Given the description of an element on the screen output the (x, y) to click on. 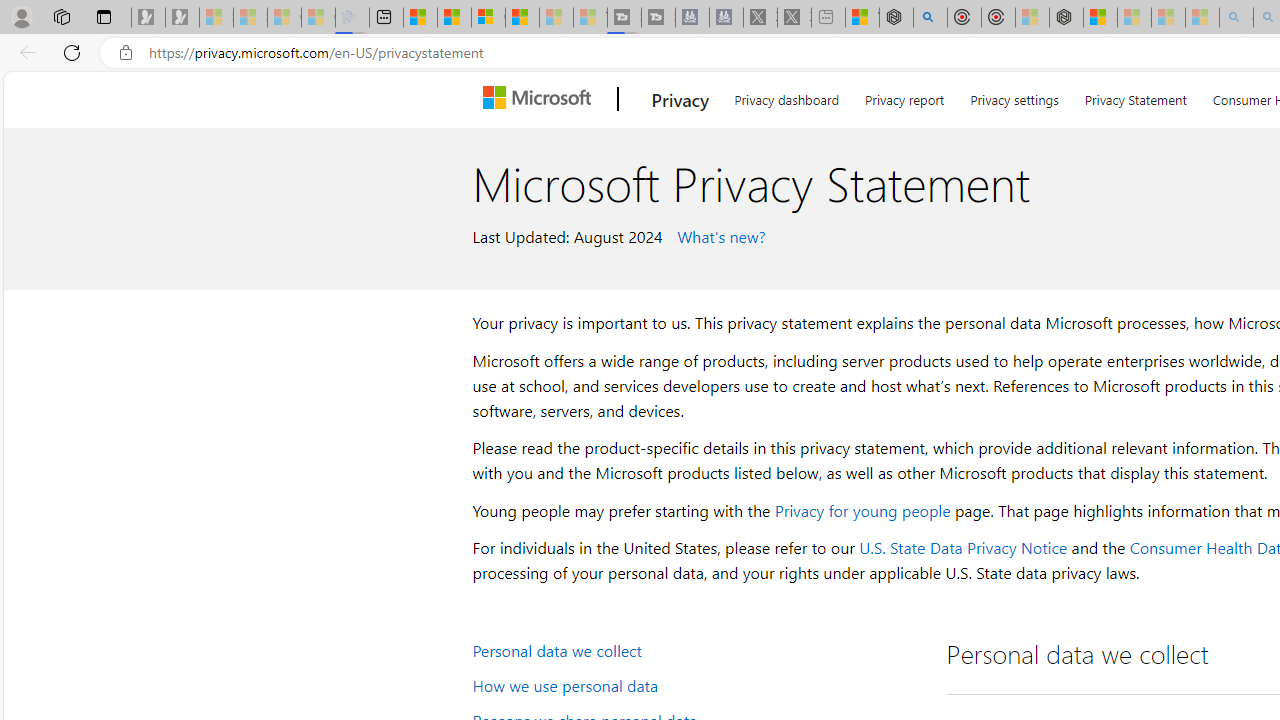
Privacy Statement (1135, 96)
Personal data we collect (696, 650)
Privacy report (904, 96)
Privacy dashboard (786, 96)
U.S. State Data Privacy Notice (962, 547)
Privacy settings (1014, 96)
Newsletter Sign Up - Sleeping (182, 17)
Privacy Statement (1135, 96)
